Given the description of an element on the screen output the (x, y) to click on. 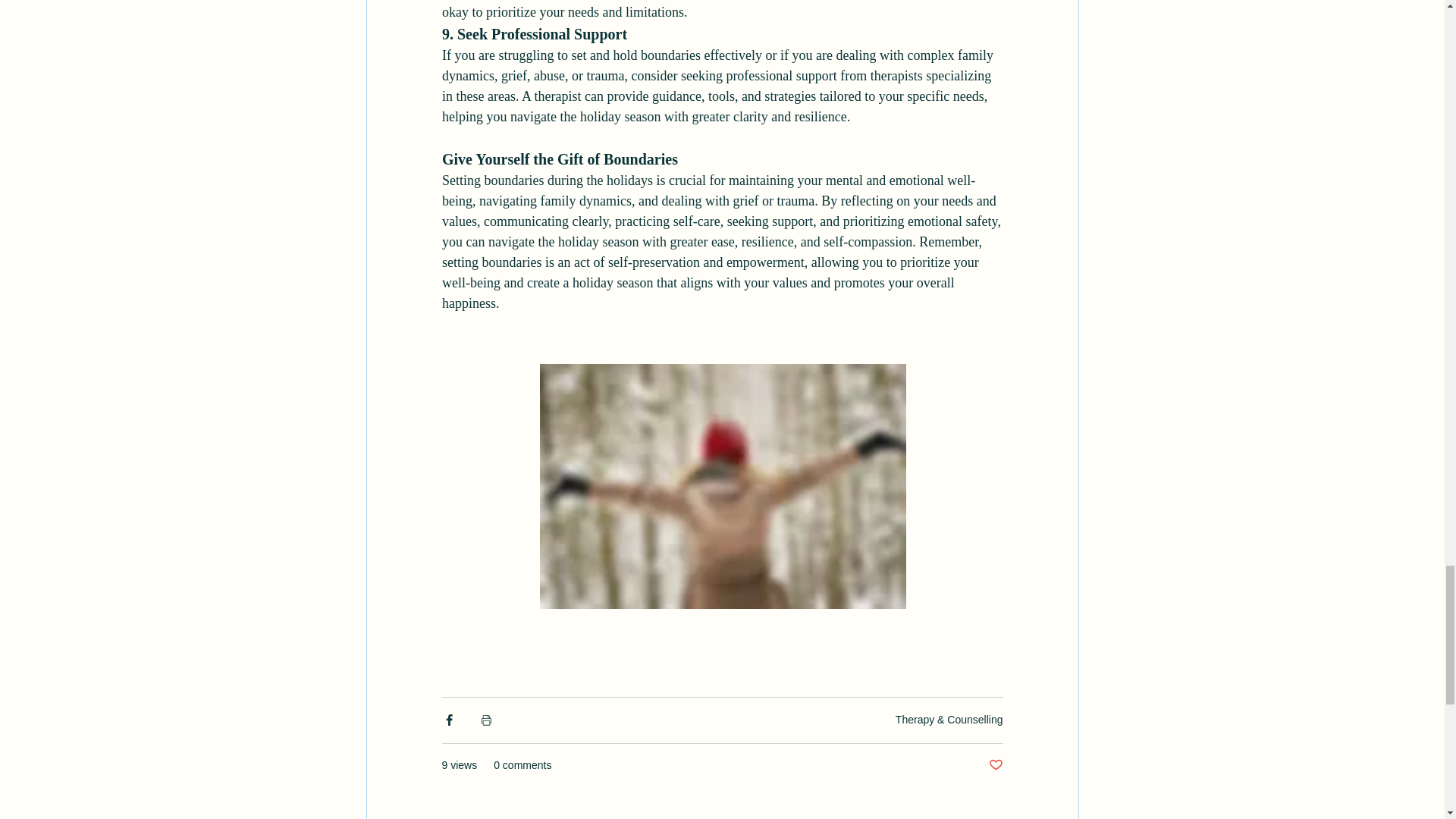
Post not marked as liked (995, 765)
